Given the description of an element on the screen output the (x, y) to click on. 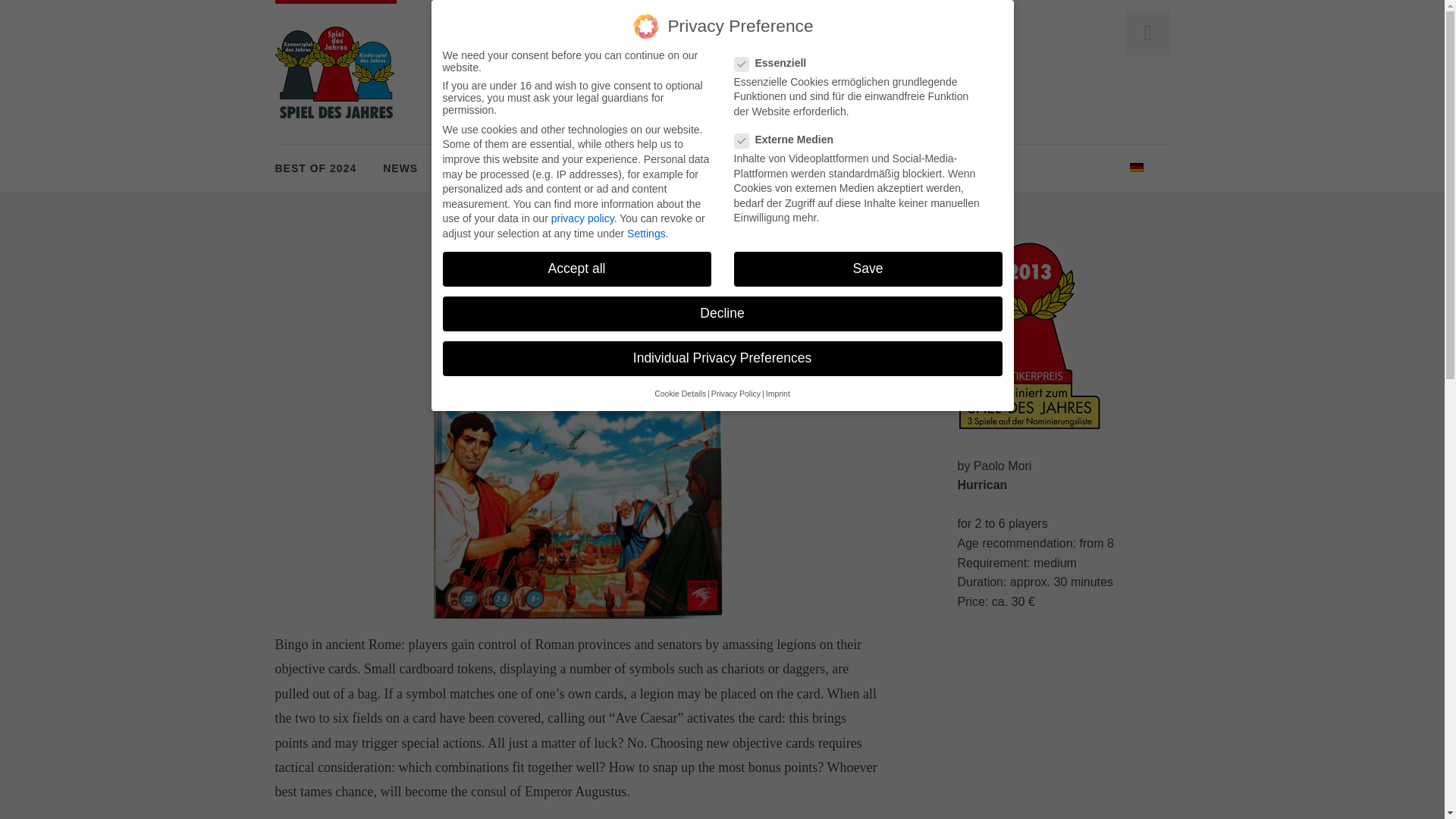
Accept all (576, 254)
BEST OF 2024 (315, 168)
NEWS (399, 168)
Privacy Policy (735, 388)
Individual Privacy Preferences (722, 353)
Cookie Details (679, 388)
Settings (646, 214)
Save (868, 258)
JURY (553, 168)
Decline (722, 306)
